Given the description of an element on the screen output the (x, y) to click on. 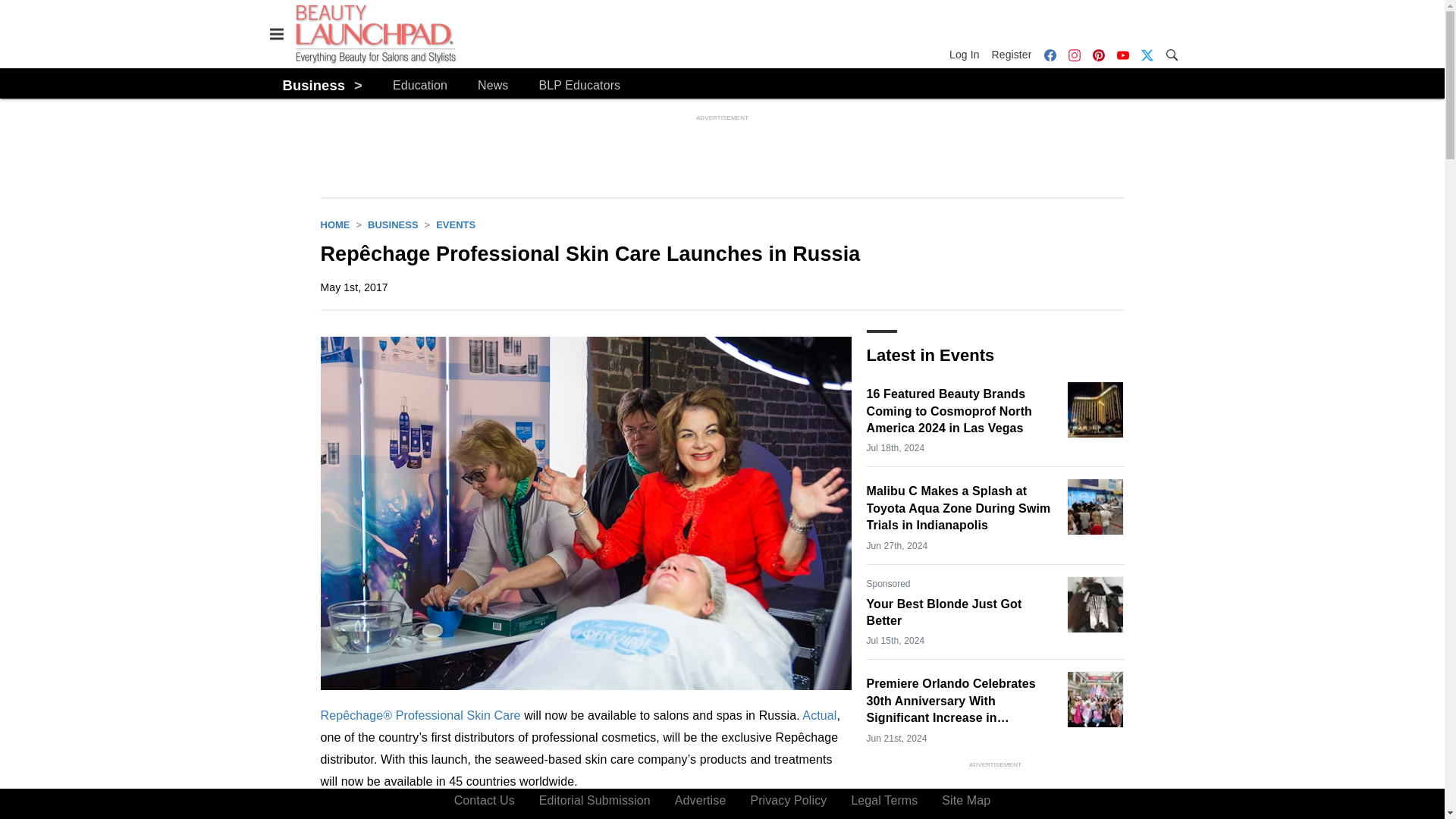
YouTube icon (1121, 54)
Instagram icon (1073, 55)
Pinterest icon (1097, 55)
Twitter X icon (1146, 55)
Business (313, 85)
Business (392, 224)
Search (1170, 53)
Pinterest icon (1097, 54)
BUSINESS (392, 224)
Instagram icon (1073, 54)
BLP Educators (579, 85)
HOME (334, 224)
Sponsored (888, 583)
Facebook icon (1049, 55)
EVENTS (455, 224)
